Given the description of an element on the screen output the (x, y) to click on. 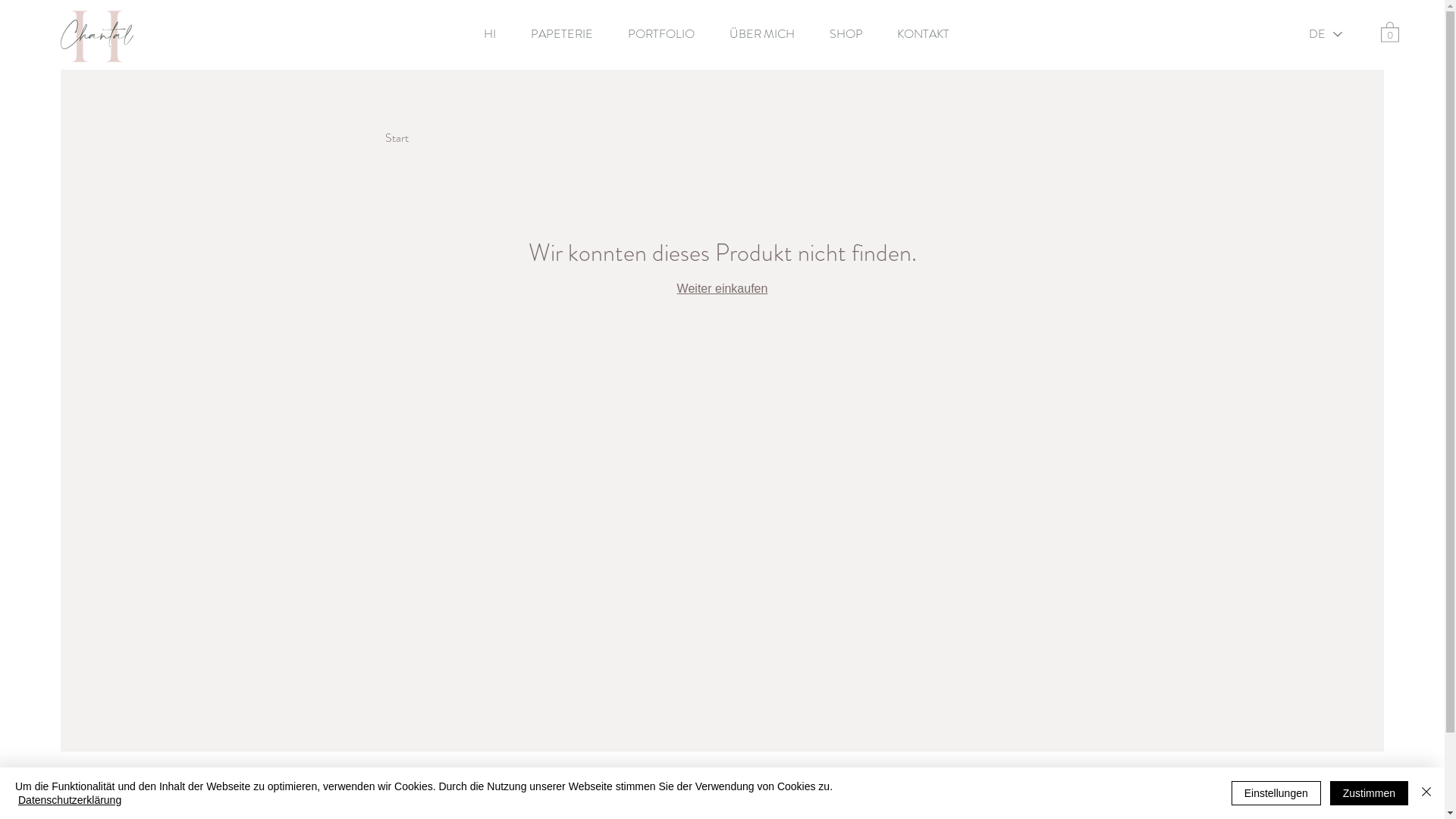
Einstellungen Element type: text (1276, 793)
SHOP Element type: text (851, 34)
Weiter einkaufen Element type: text (722, 288)
PAPETERIE Element type: text (567, 34)
Hi Element type: text (390, 137)
PORTFOLIO Element type: text (667, 34)
0 Element type: text (1389, 31)
HI Element type: text (495, 34)
KONTAKT Element type: text (928, 34)
Zustimmen Element type: text (1369, 793)
